Given the description of an element on the screen output the (x, y) to click on. 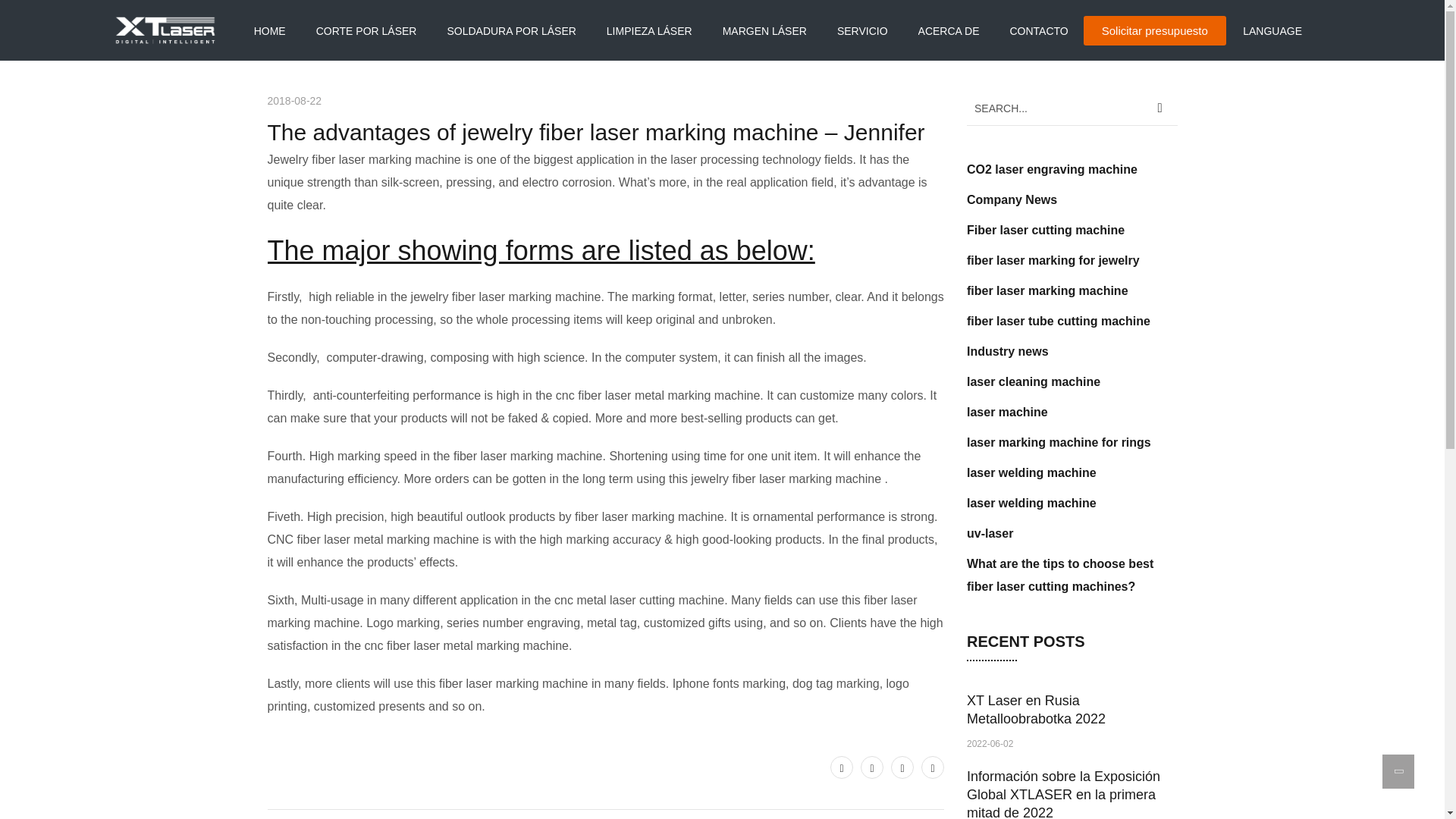
LinkedIn (932, 766)
LANGUAGE (1272, 30)
ACERCA DE (948, 30)
SERVICIO (862, 30)
Pinterest (902, 766)
Facebook (871, 766)
HOME (269, 30)
Solicitar presupuesto (1154, 30)
CONTACTO (1038, 30)
Twitter (841, 766)
